Given the description of an element on the screen output the (x, y) to click on. 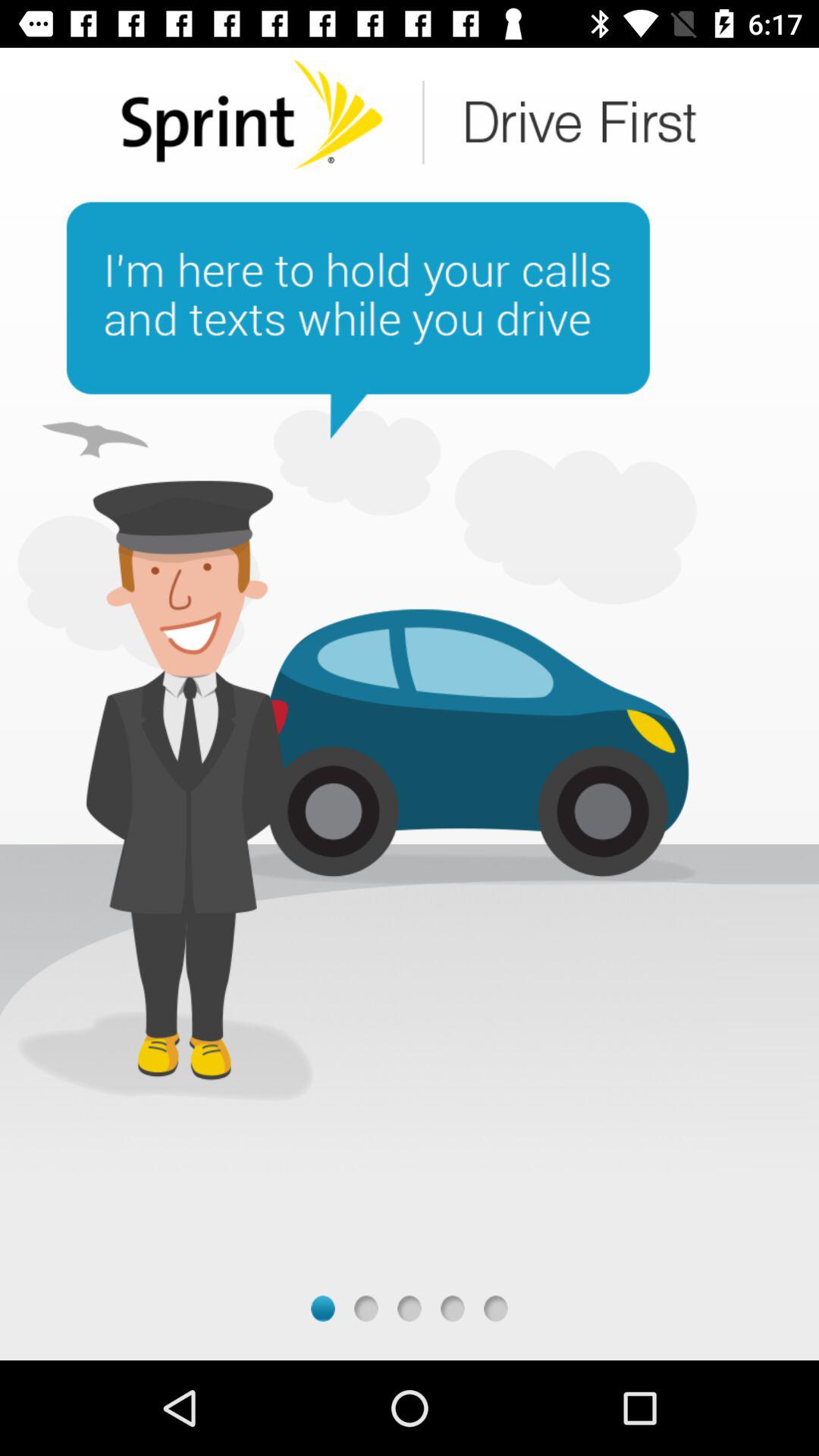
next screen (322, 1308)
